Given the description of an element on the screen output the (x, y) to click on. 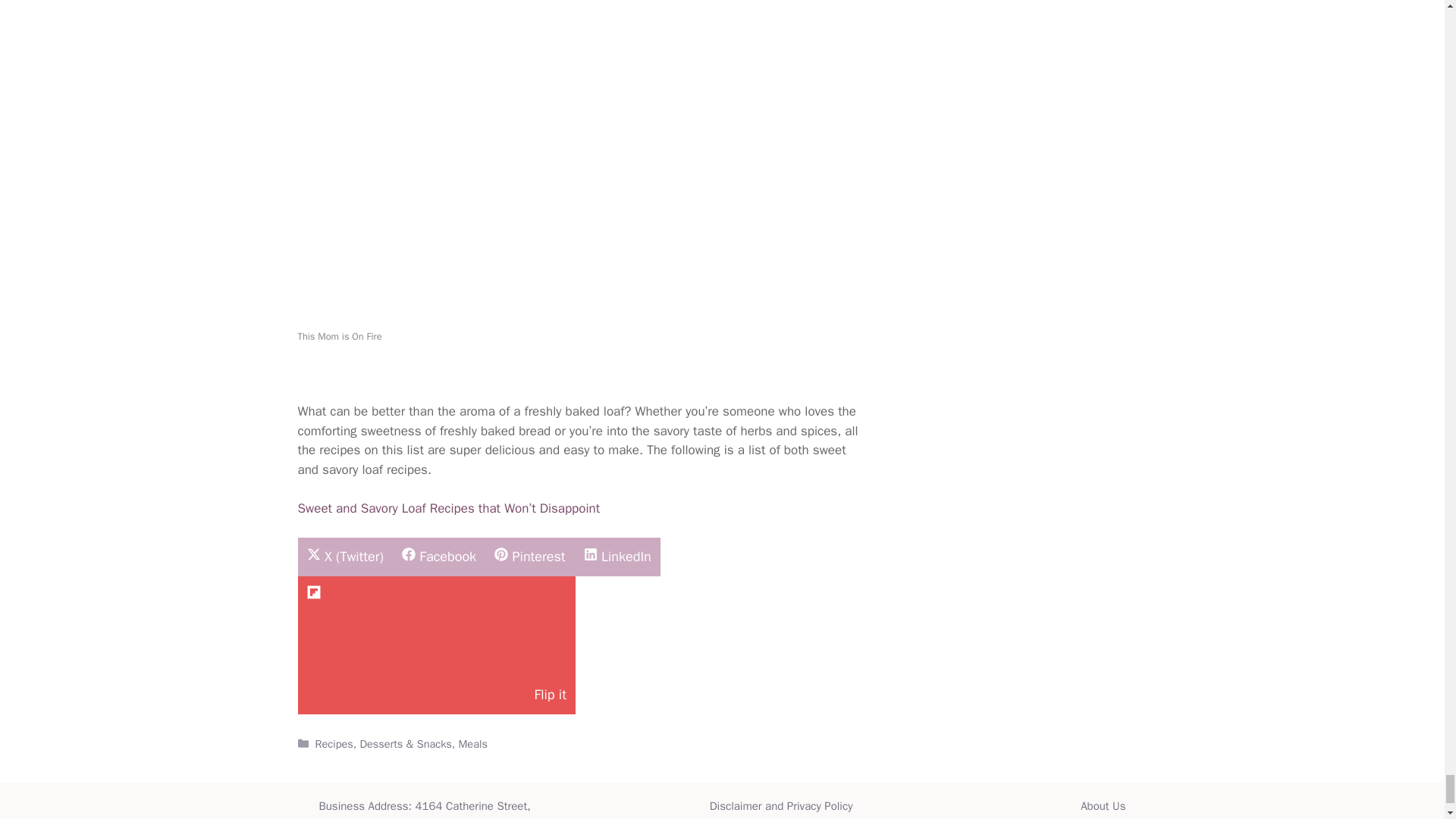
flipboard (313, 591)
